Given the description of an element on the screen output the (x, y) to click on. 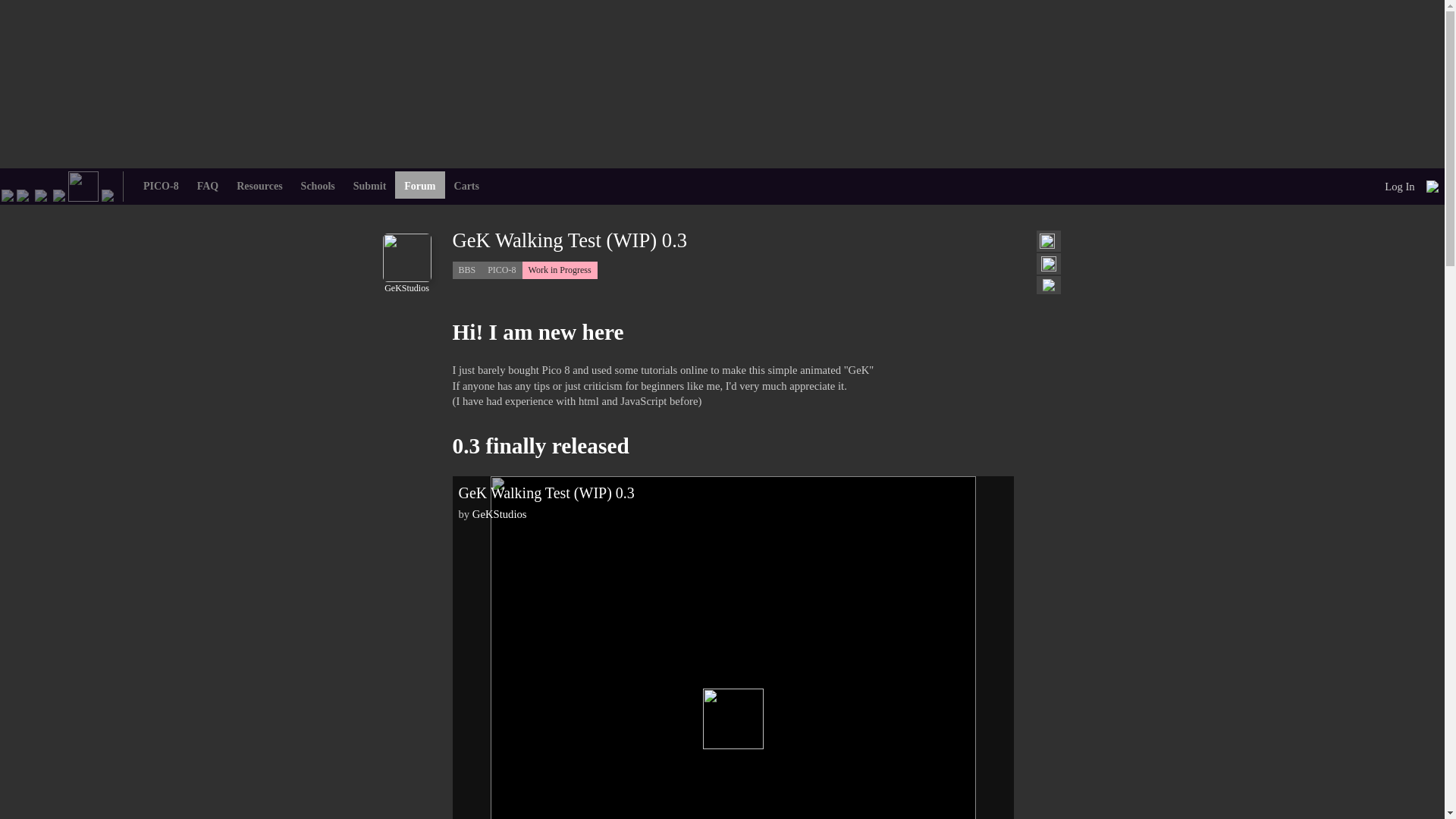
BBS (466, 270)
Picotron (58, 193)
Voxatron (40, 193)
Lexaloffle Games (7, 193)
Add to your favourites collection (1048, 263)
BBS (83, 184)
Superblog (107, 193)
Give this post a star (1046, 240)
Work in Progress (559, 270)
GeKStudios (405, 282)
PICO-8 (22, 193)
PICO-8 (501, 270)
